Given the description of an element on the screen output the (x, y) to click on. 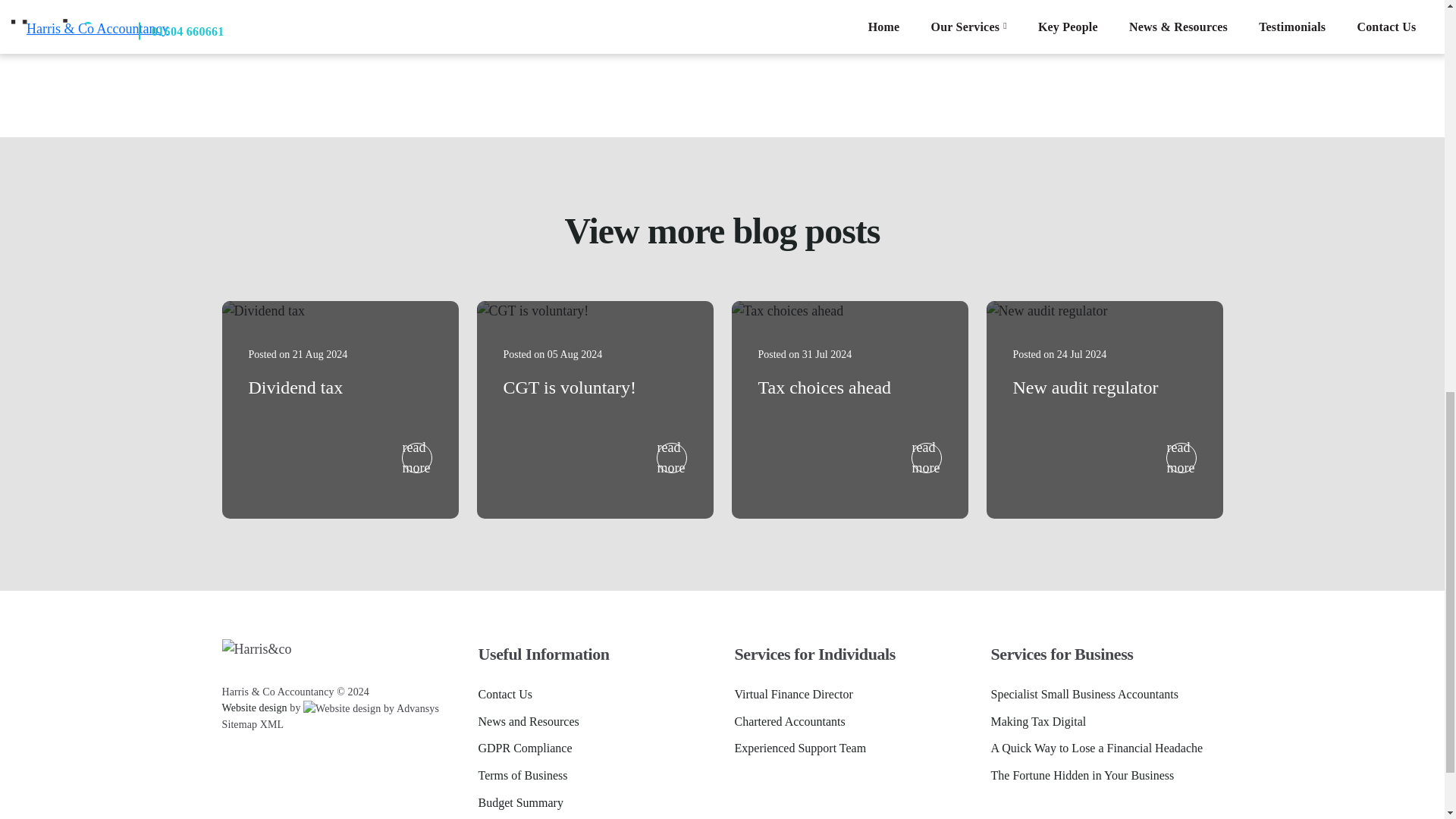
read more (416, 458)
Terms of Business (522, 775)
read more (1181, 458)
Contact Us (504, 694)
Website design by Advansys (253, 707)
News and Resources (527, 721)
GDPR Compliance (524, 748)
read more (926, 458)
Website design (253, 707)
read more (671, 458)
